Given the description of an element on the screen output the (x, y) to click on. 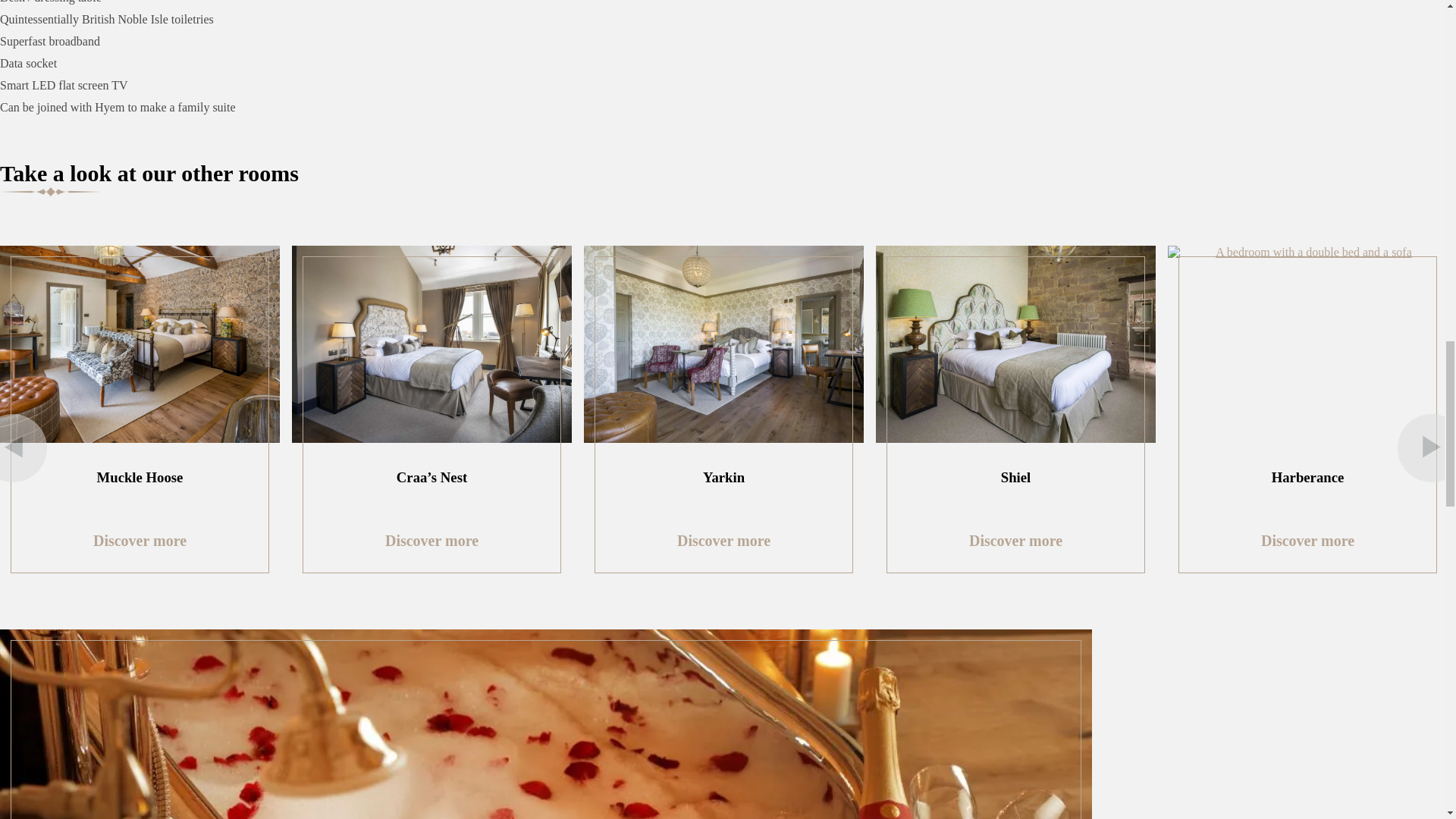
Discover more (723, 540)
Discover more (432, 540)
Discover more (139, 540)
Discover more (1015, 540)
Discover more (1307, 540)
